Given the description of an element on the screen output the (x, y) to click on. 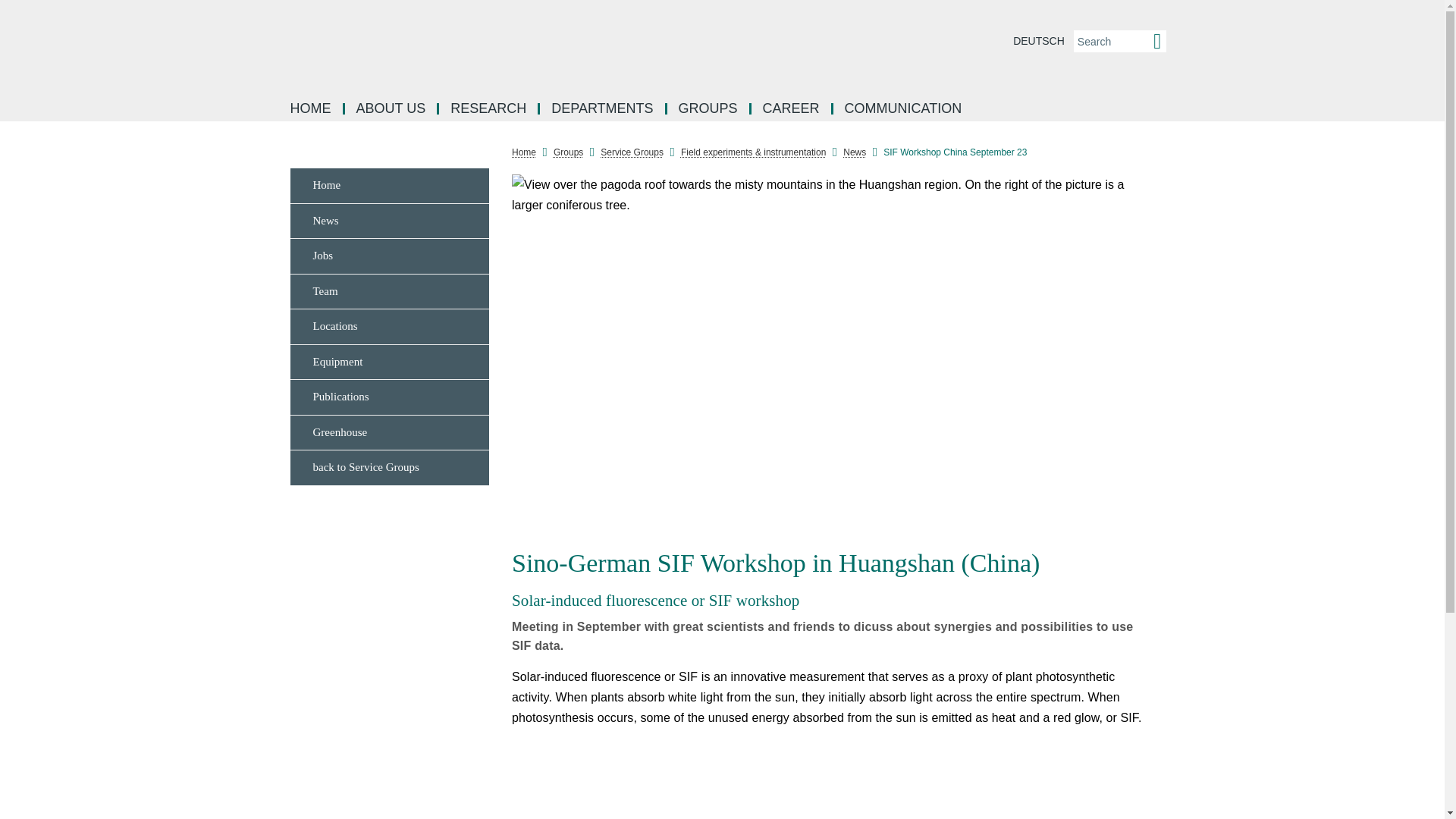
HOME (312, 108)
DEPARTMENTS (603, 108)
Facebook (1177, 184)
E-Mail (1177, 354)
DEUTSCH (1038, 41)
ABOUT US (391, 108)
Mountains Huangshan Region (833, 194)
Xing (1177, 321)
RESEARCH (489, 108)
Twitter (1177, 287)
